Given the description of an element on the screen output the (x, y) to click on. 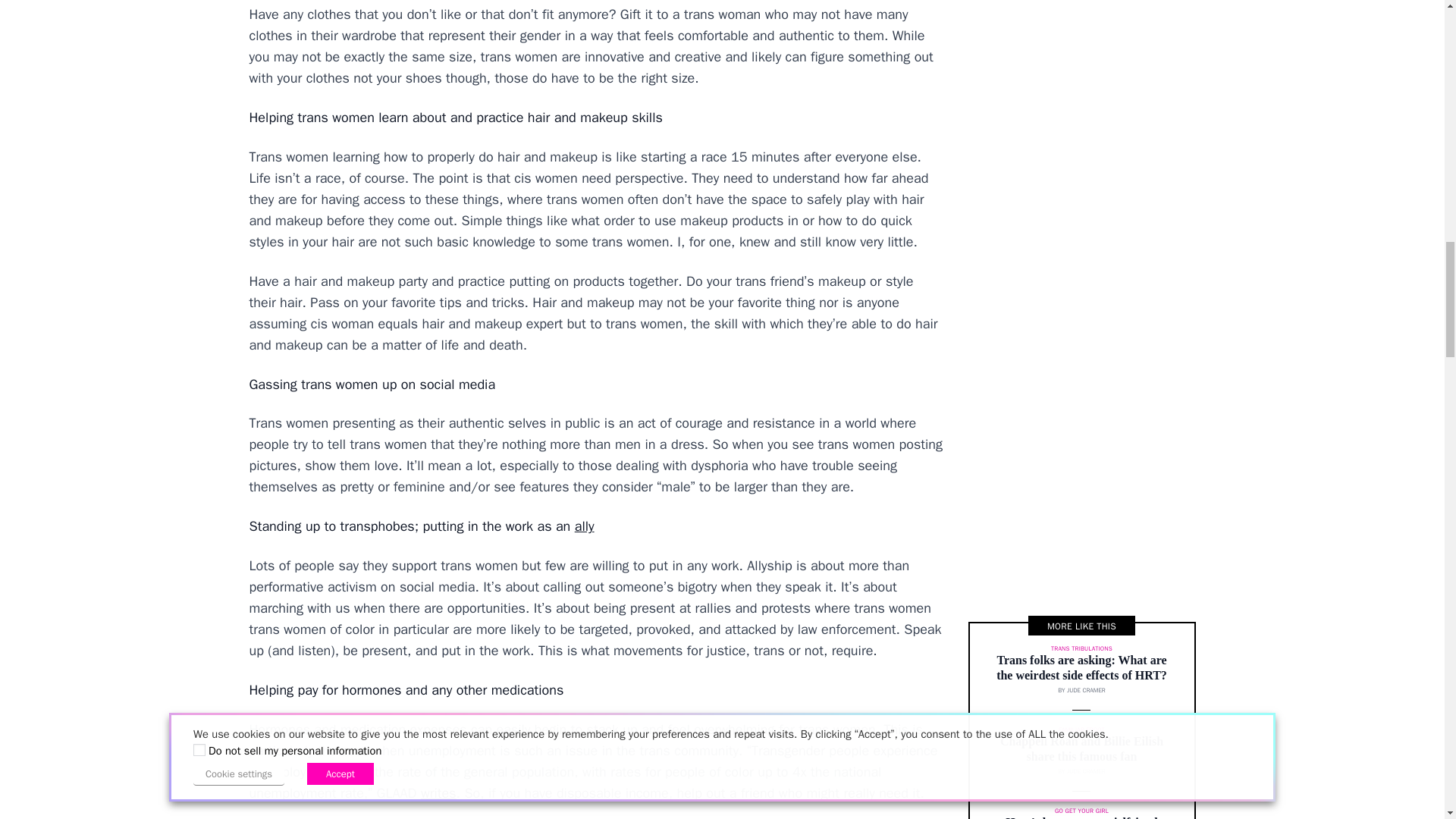
writes (438, 792)
ally (584, 525)
